Given the description of an element on the screen output the (x, y) to click on. 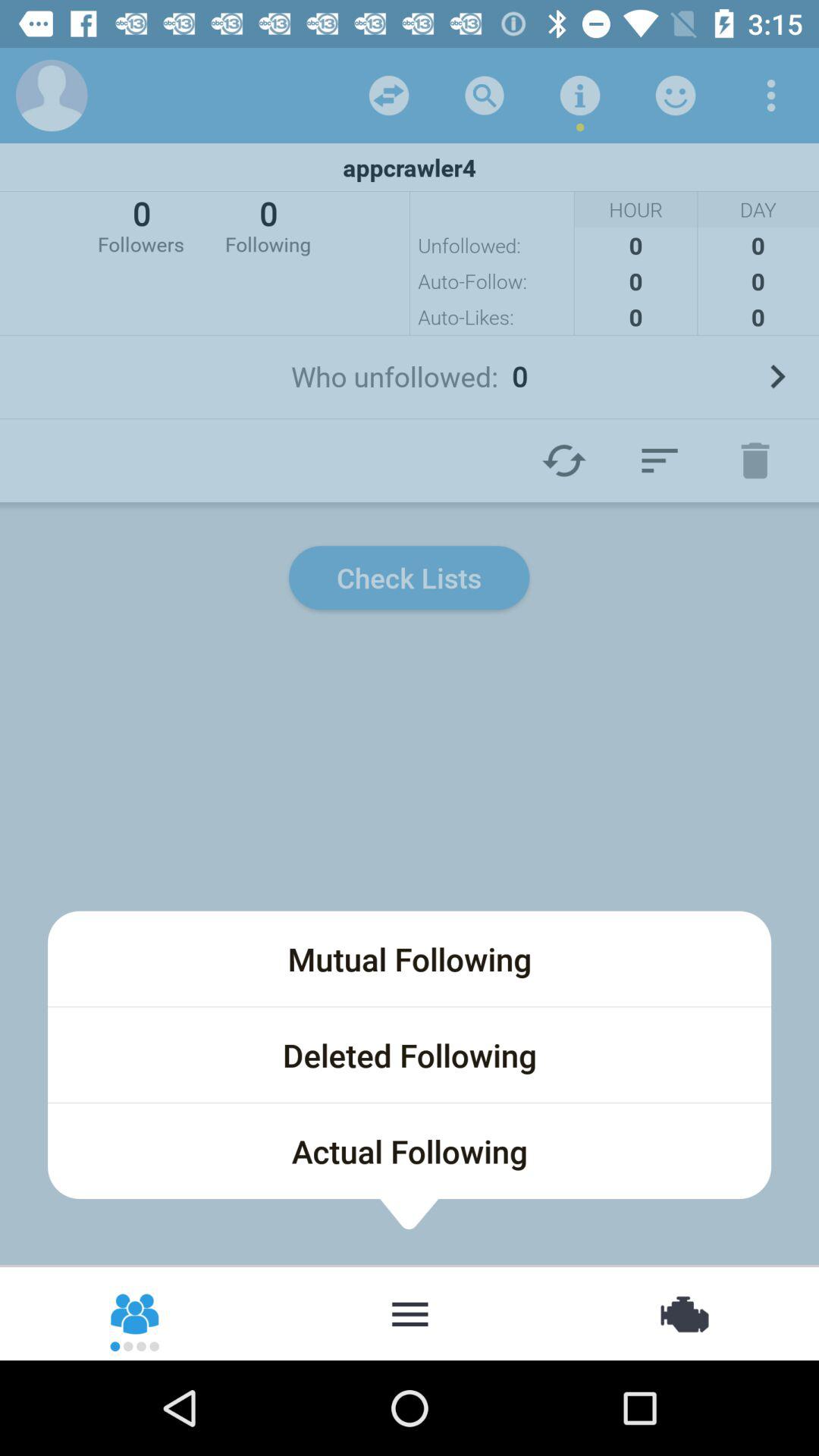
more options (409, 1312)
